Given the description of an element on the screen output the (x, y) to click on. 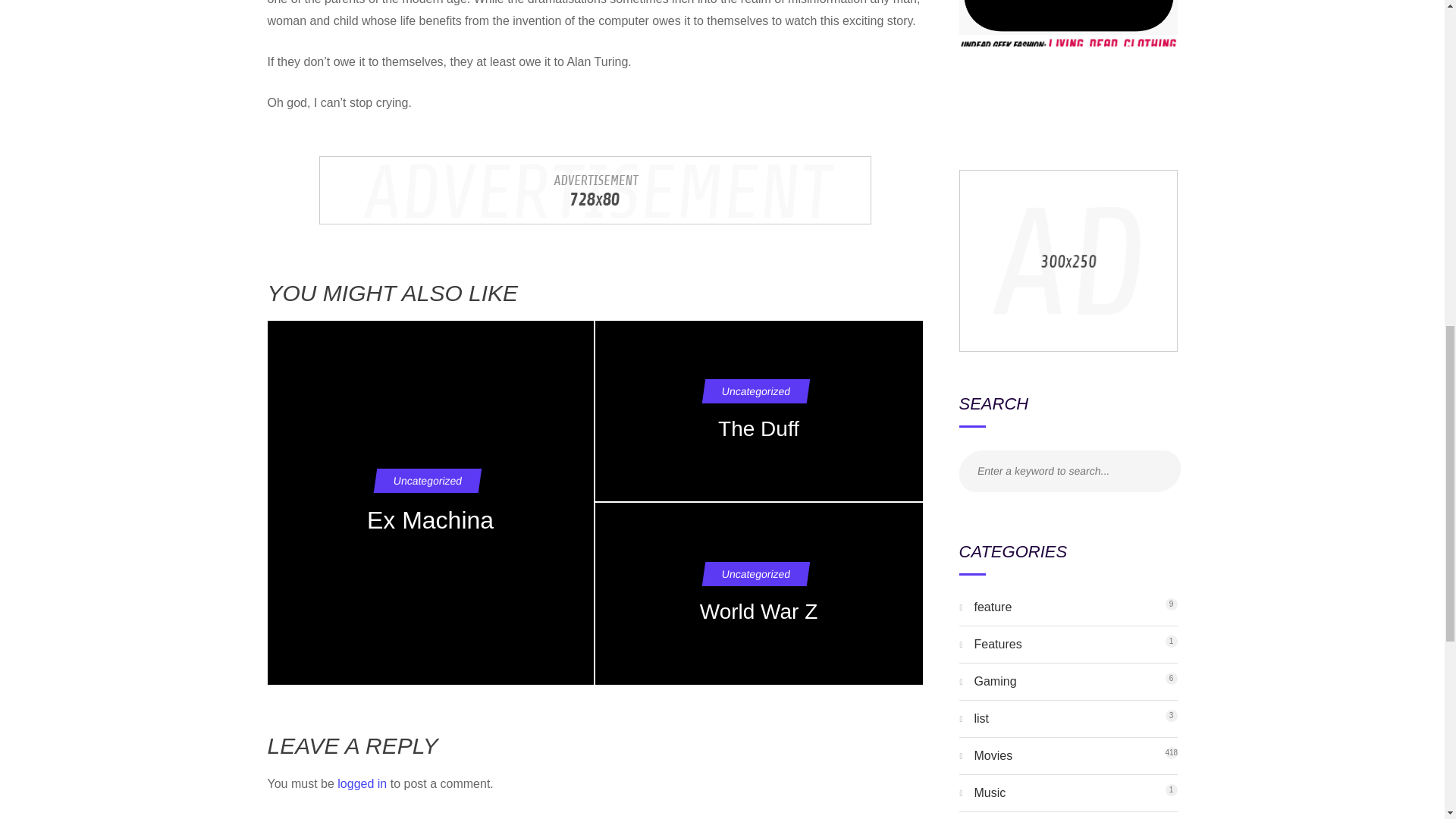
logged in (992, 755)
